Given the description of an element on the screen output the (x, y) to click on. 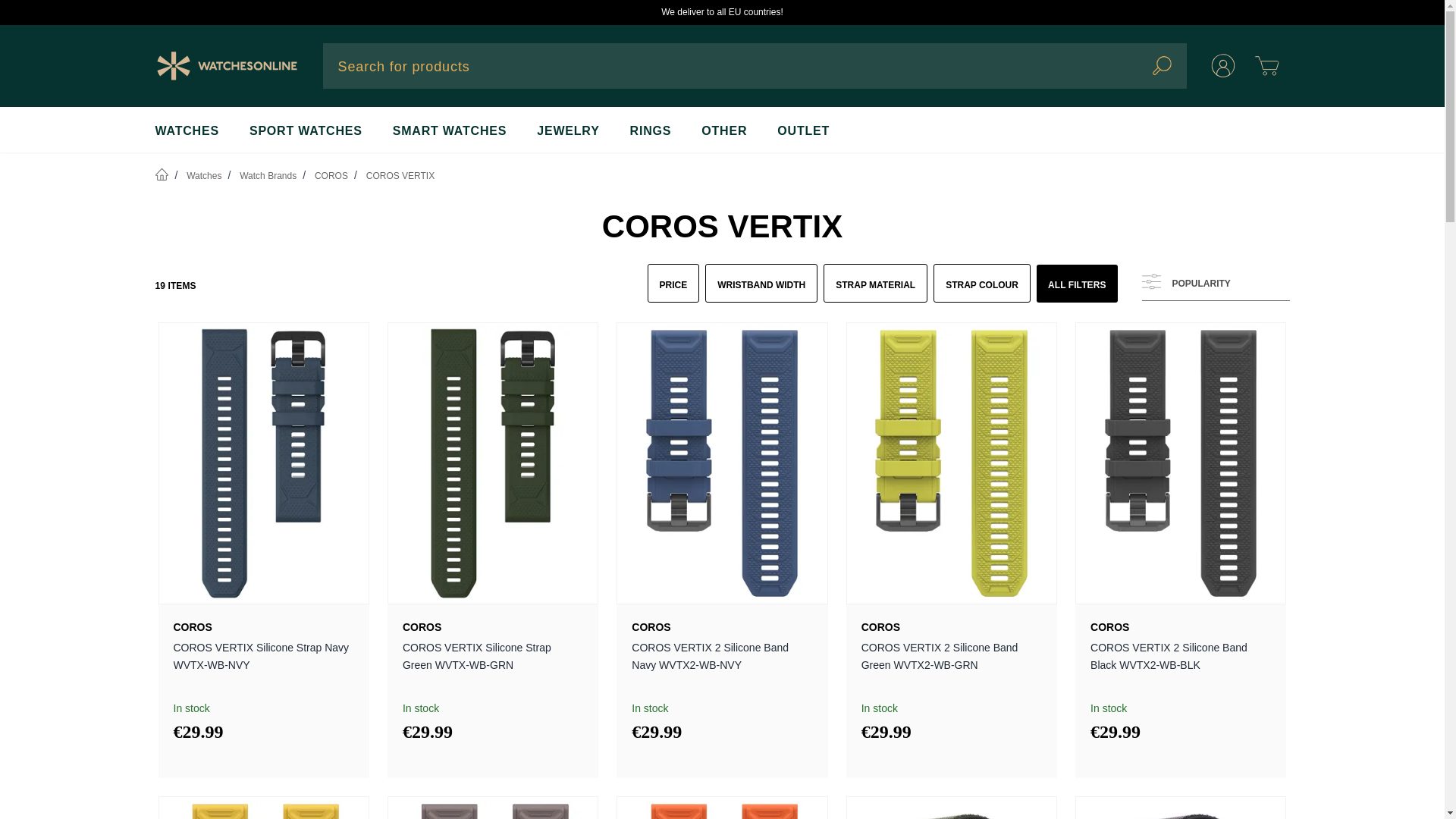
Submit (1162, 65)
Watches Online (226, 65)
Cart (1265, 65)
WATCHES (185, 129)
Watches Online (226, 65)
Search (1162, 65)
